Given the description of an element on the screen output the (x, y) to click on. 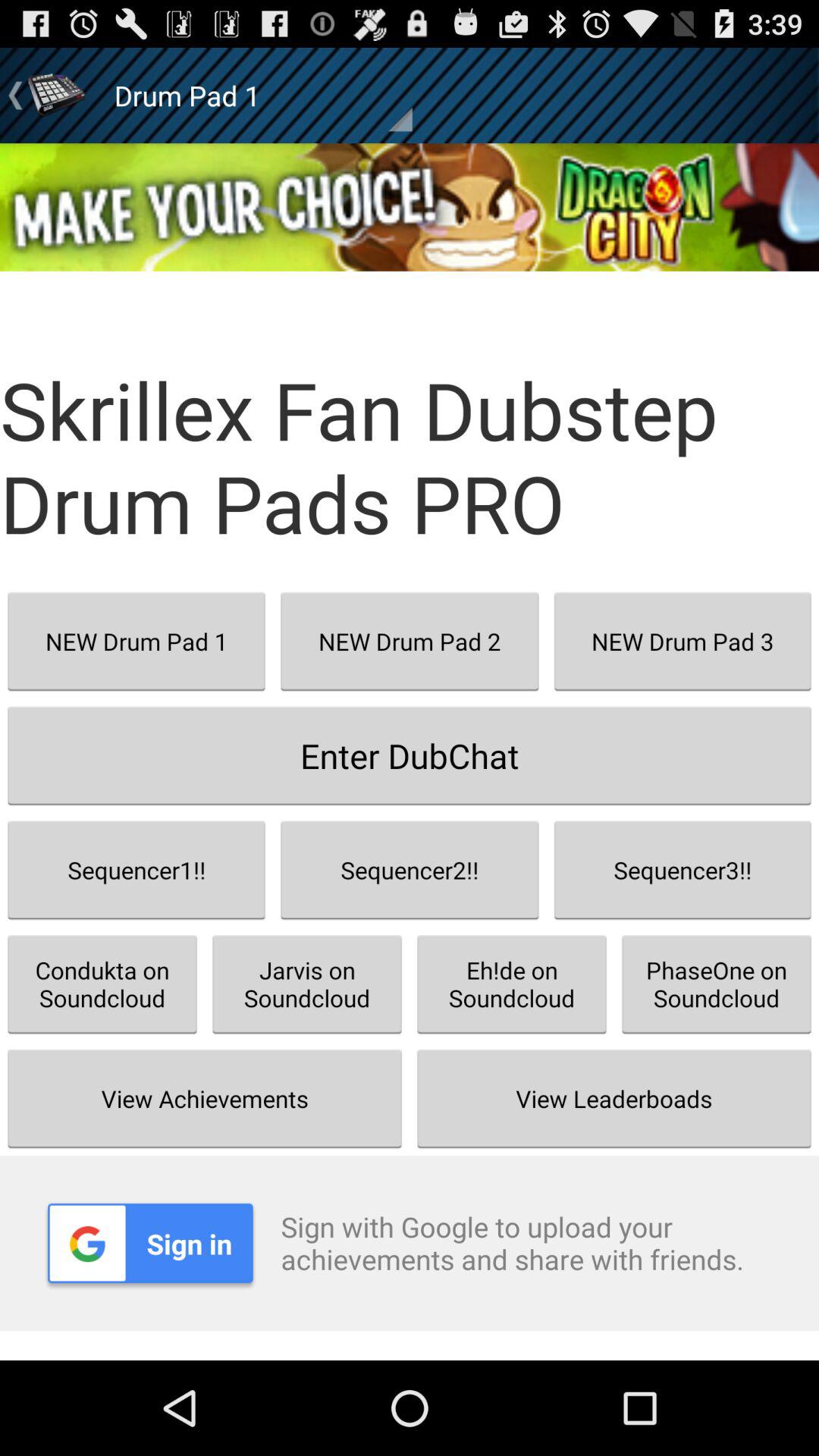
choose the app above the skrillex fan dubstep icon (409, 207)
